Given the description of an element on the screen output the (x, y) to click on. 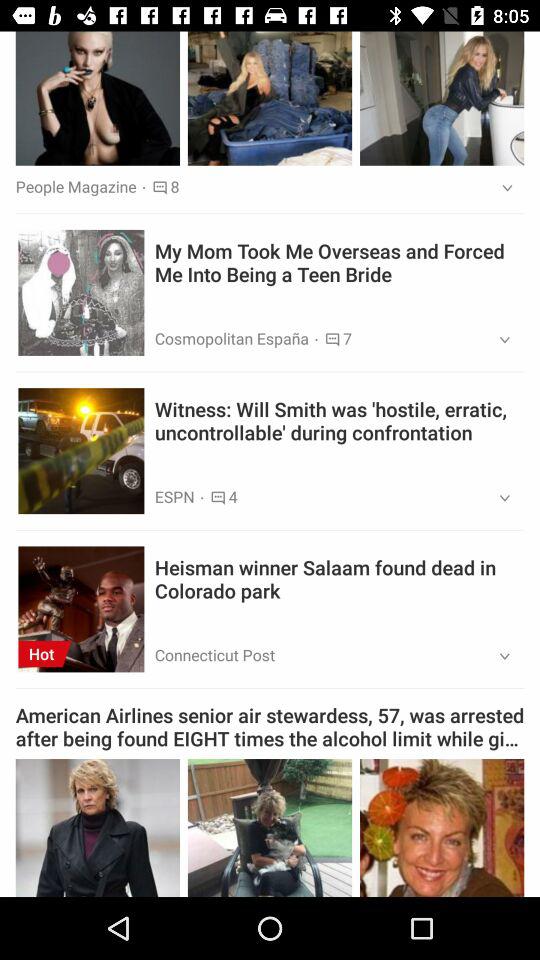
click item above the heisman winner salaam (498, 498)
